Given the description of an element on the screen output the (x, y) to click on. 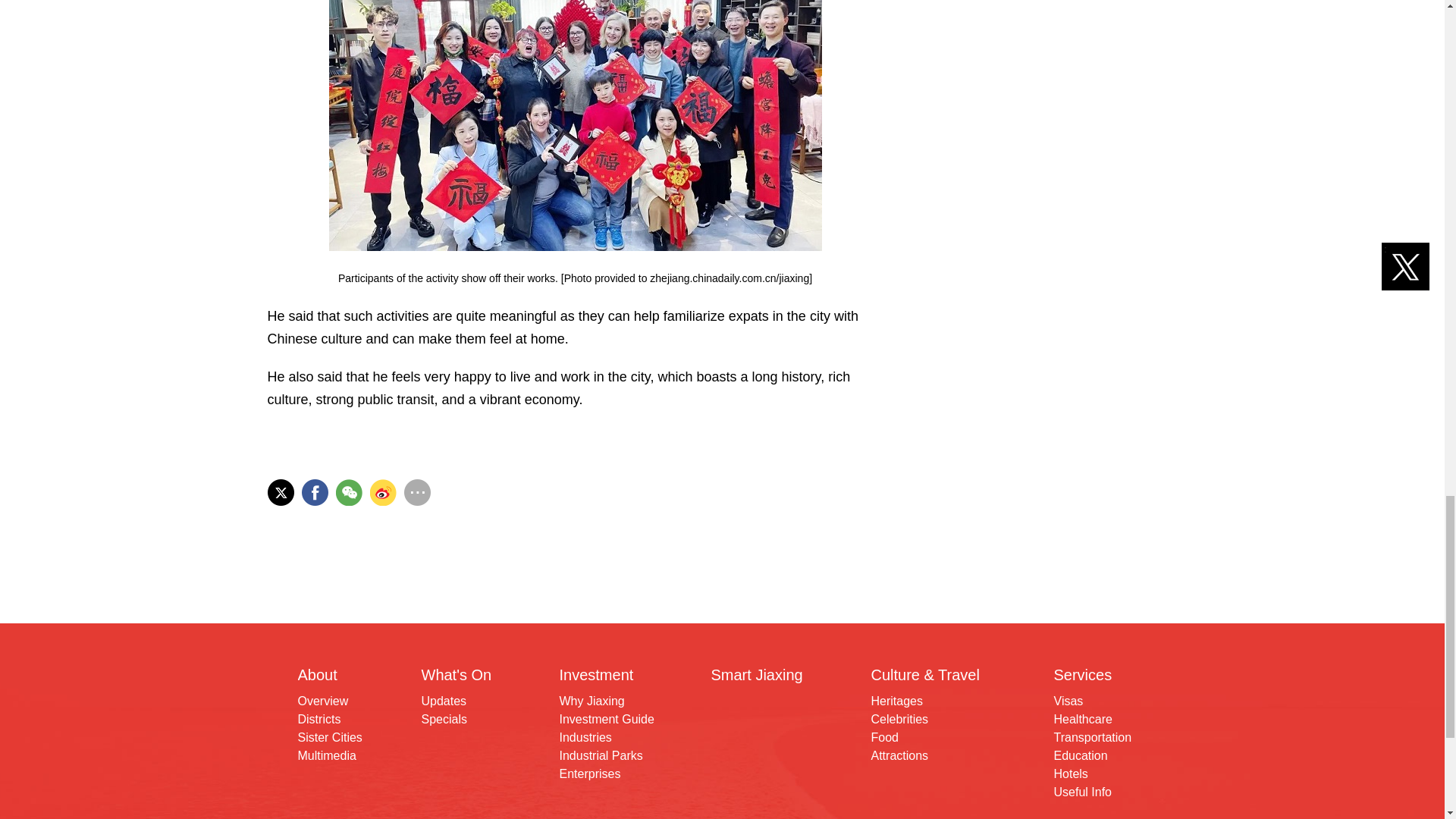
1673847938003056221.jpg (575, 125)
